Given the description of an element on the screen output the (x, y) to click on. 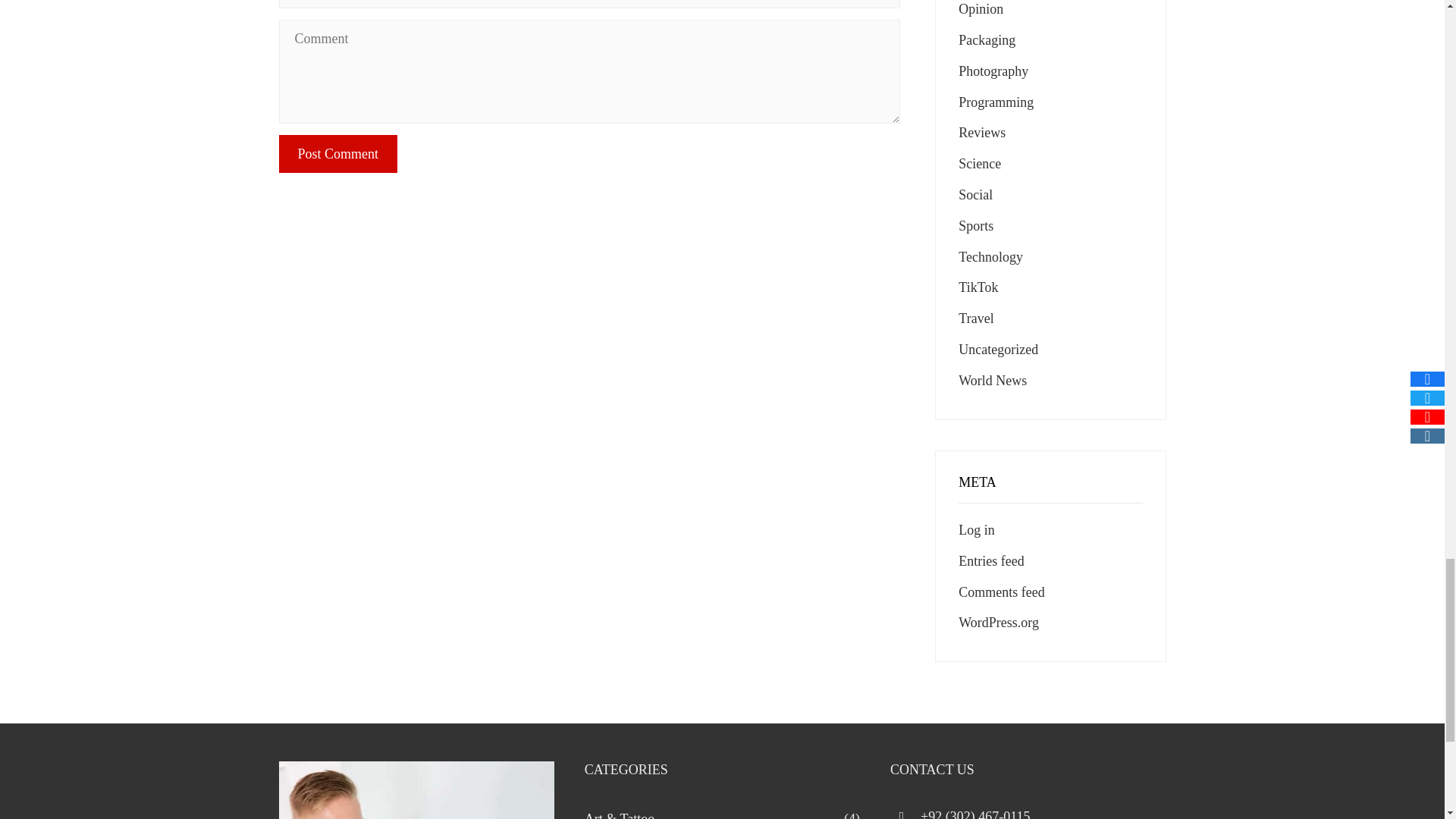
Post Comment (338, 153)
Post Comment (338, 153)
